Given the description of an element on the screen output the (x, y) to click on. 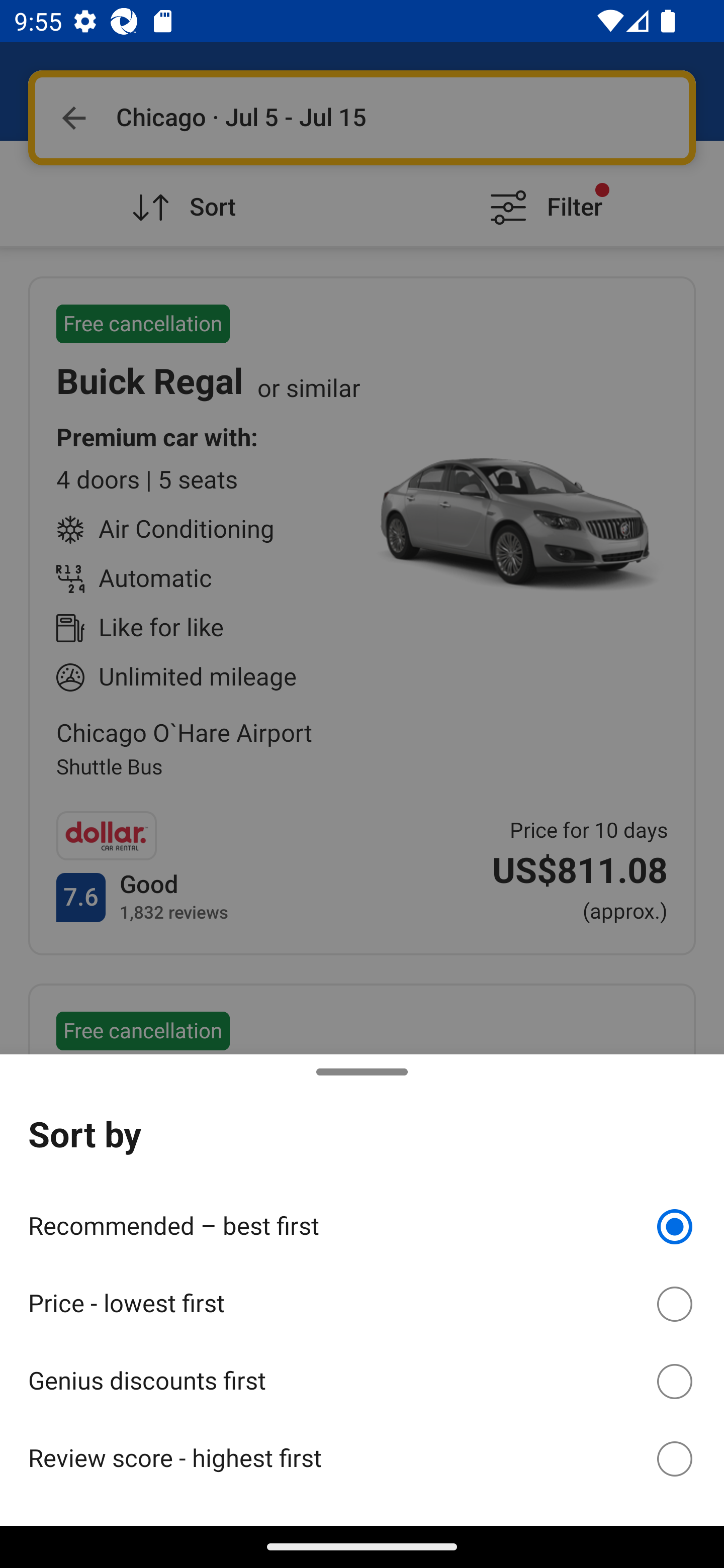
Price - lowest first (361, 1300)
Genius discounts first (361, 1378)
Review score - highest first (361, 1458)
